Given the description of an element on the screen output the (x, y) to click on. 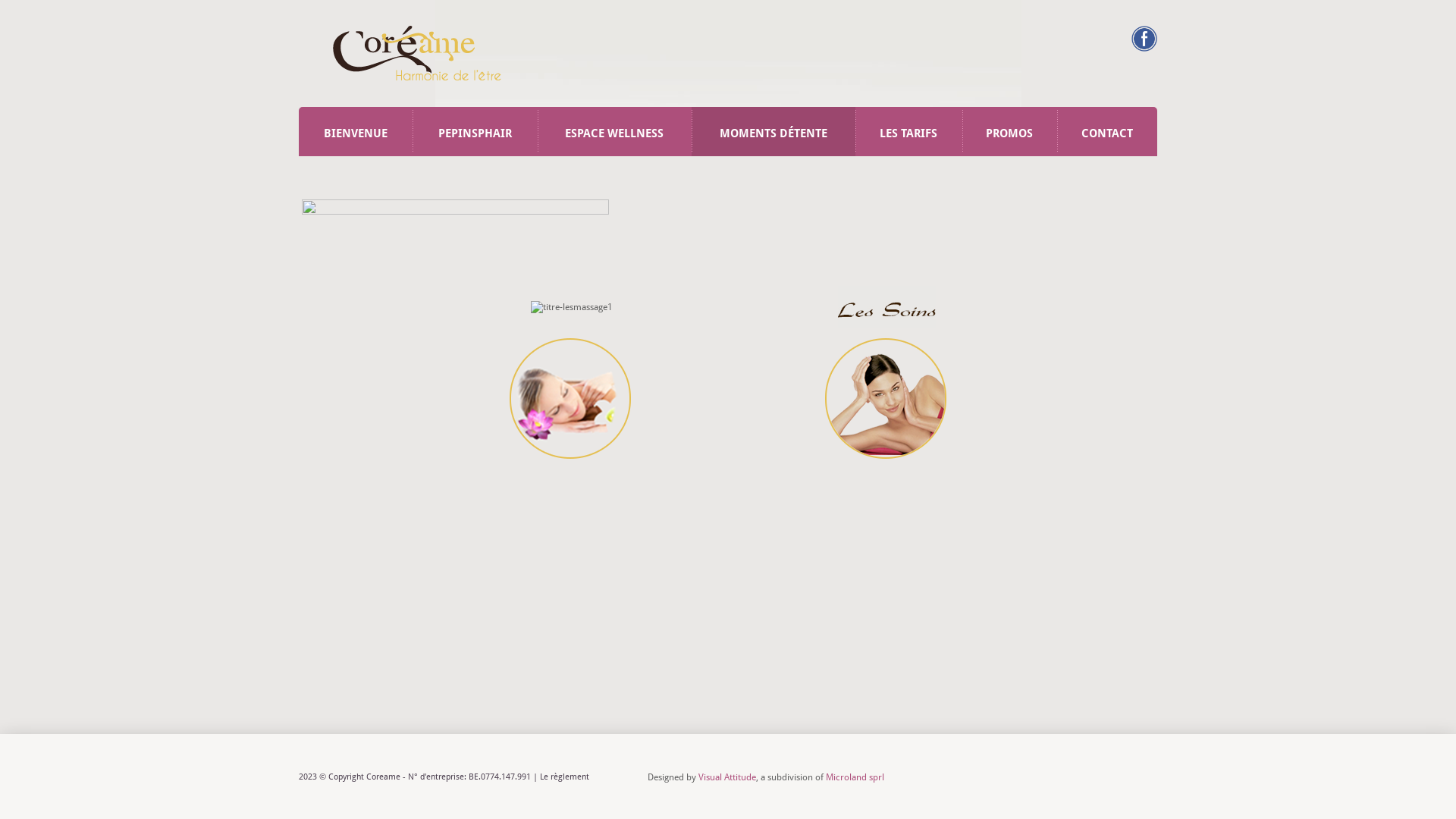
PROMOS Element type: text (1009, 131)
BIENVENUE Element type: text (355, 131)
ESPACE WELLNESS Element type: text (614, 131)
PEPINSPHAIR Element type: text (474, 131)
CONTACT Element type: text (1107, 131)
LES TARIFS Element type: text (908, 131)
Microland sprl Element type: text (854, 776)
Visual Attitude Element type: text (727, 776)
